Given the description of an element on the screen output the (x, y) to click on. 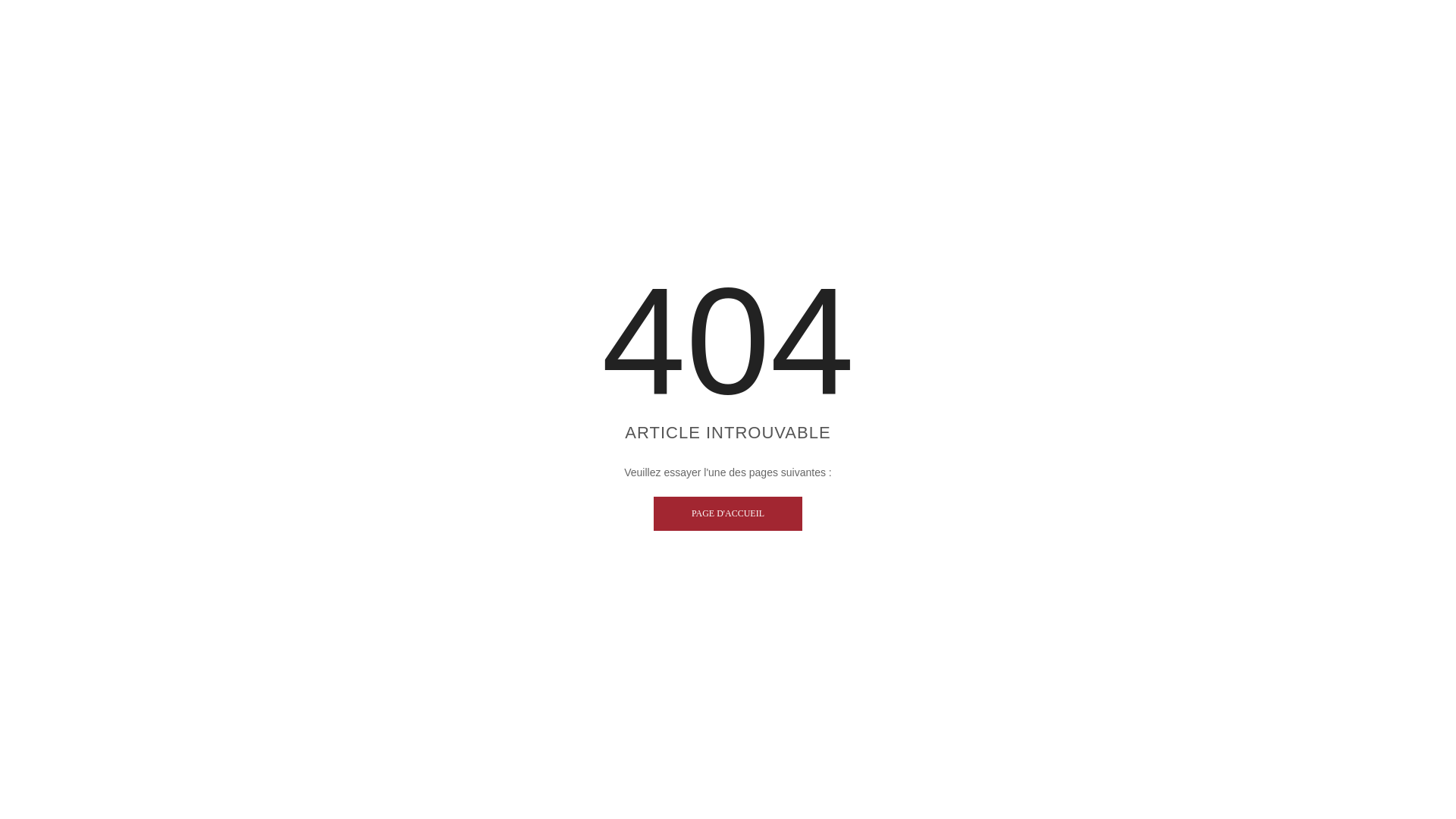
PAGE D'ACCUEIL Element type: text (727, 512)
